Given the description of an element on the screen output the (x, y) to click on. 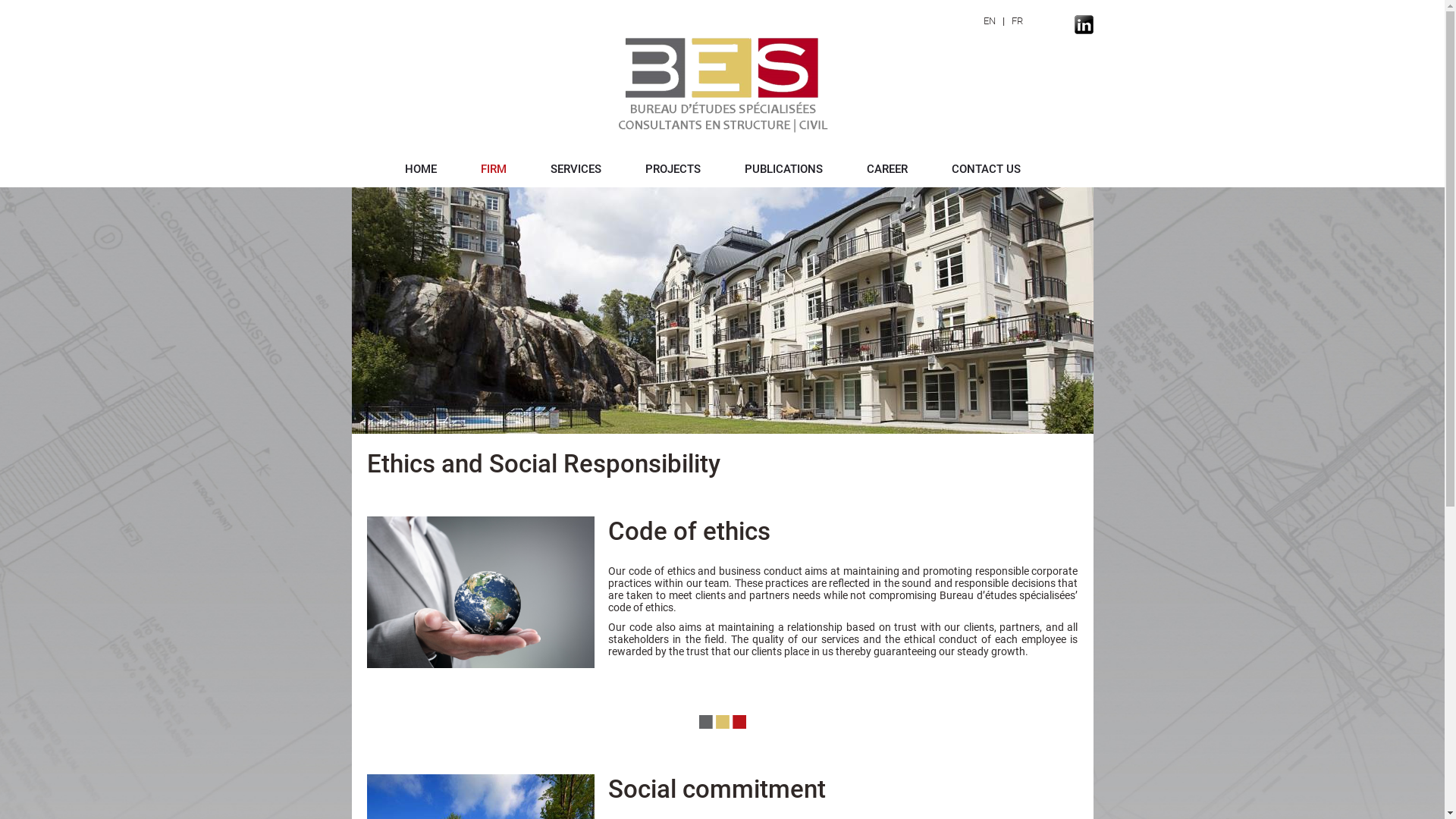
PROJECTS Element type: text (672, 168)
EN Element type: text (988, 20)
FIRM Element type: text (493, 168)
CAREER Element type: text (886, 168)
HOME Element type: text (420, 168)
FR Element type: text (1016, 20)
SERVICES Element type: text (575, 168)
PUBLICATIONS Element type: text (783, 168)
CONTACT US Element type: text (985, 168)
